Given the description of an element on the screen output the (x, y) to click on. 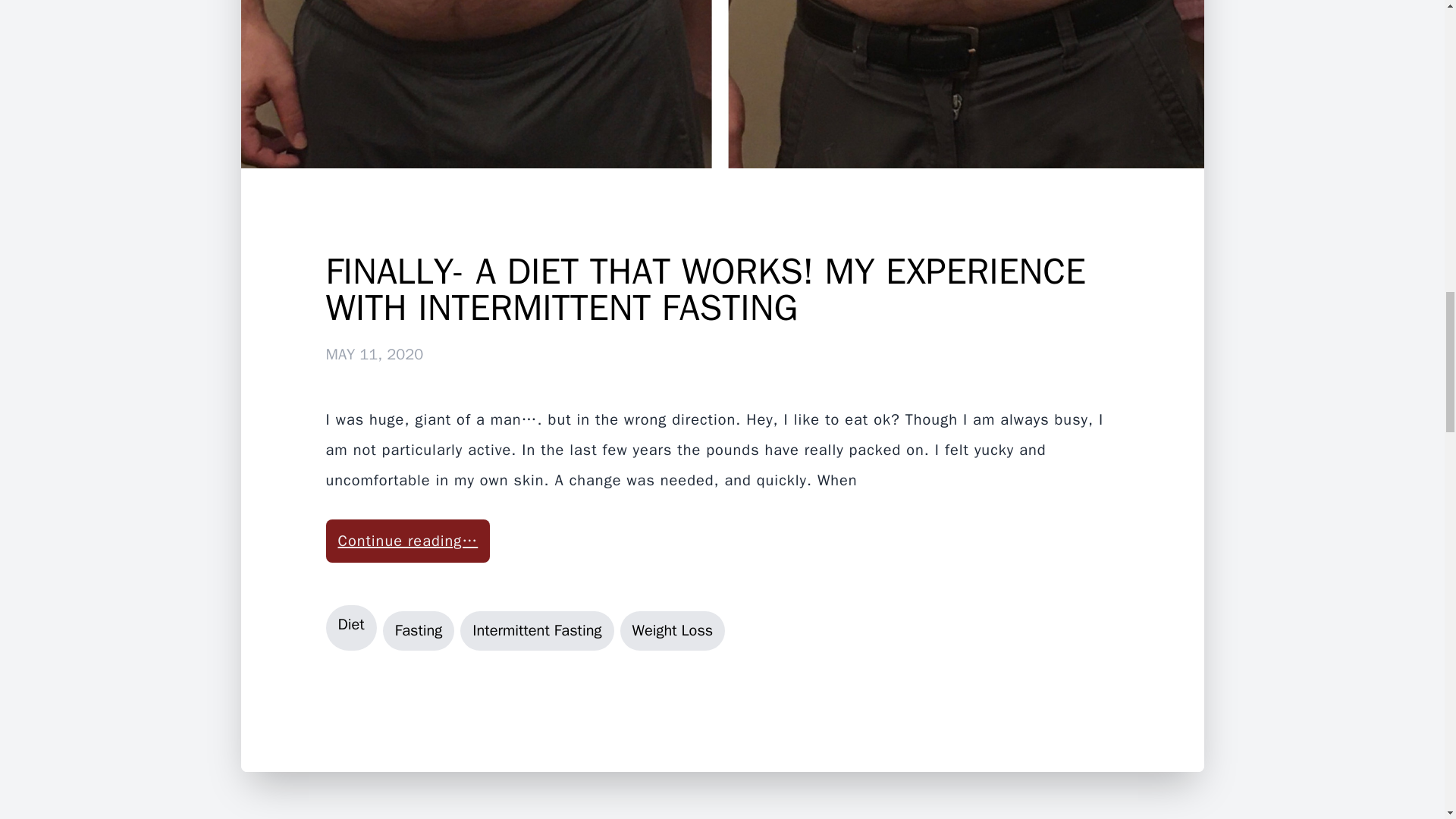
Intermittent Fasting Tag (536, 630)
Diet Tag (351, 627)
Intermittent Fasting (536, 630)
Weight Loss (672, 630)
Fasting Tag (418, 630)
Fasting (418, 630)
Weight Loss Tag (672, 630)
Diet (351, 627)
